Given the description of an element on the screen output the (x, y) to click on. 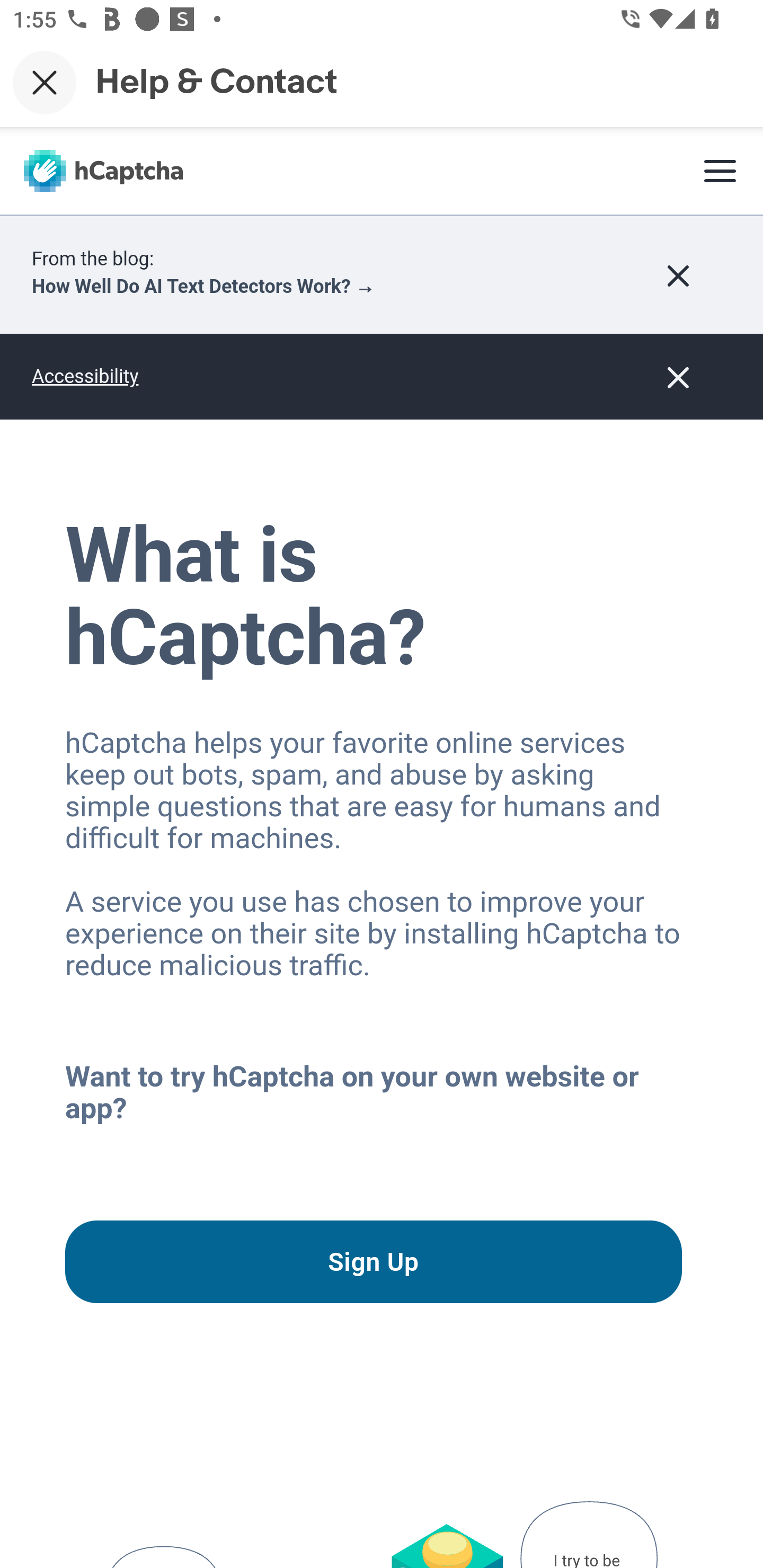
Close (44, 82)
hCaptcha home page hCaptcha logo (horizontal) (103, 170)
How Well Do AI Text Detectors Work? → (203, 286)
Sign Up (373, 1261)
